Given the description of an element on the screen output the (x, y) to click on. 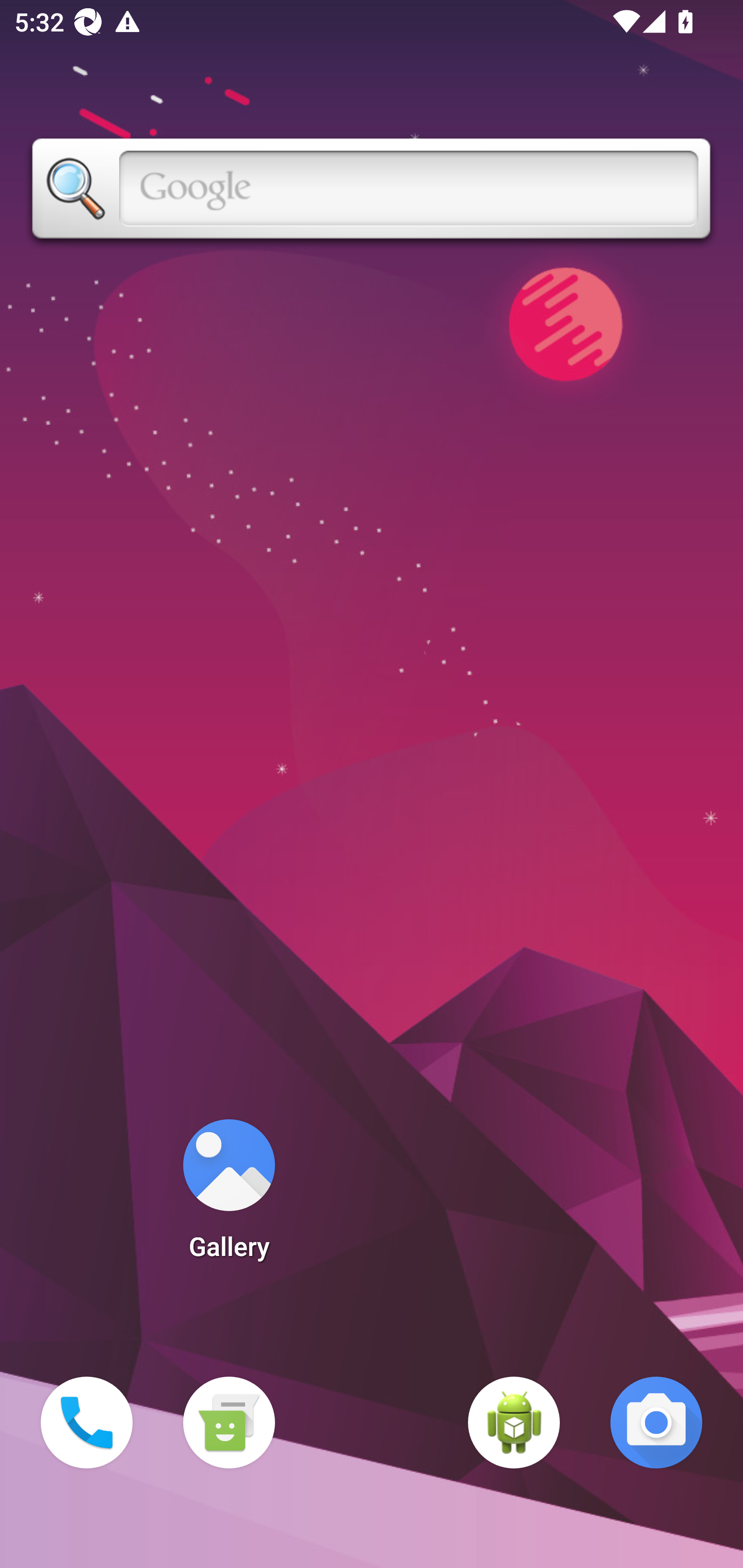
Gallery (228, 1195)
Phone (86, 1422)
Messaging (228, 1422)
WebView Browser Tester (513, 1422)
Camera (656, 1422)
